Given the description of an element on the screen output the (x, y) to click on. 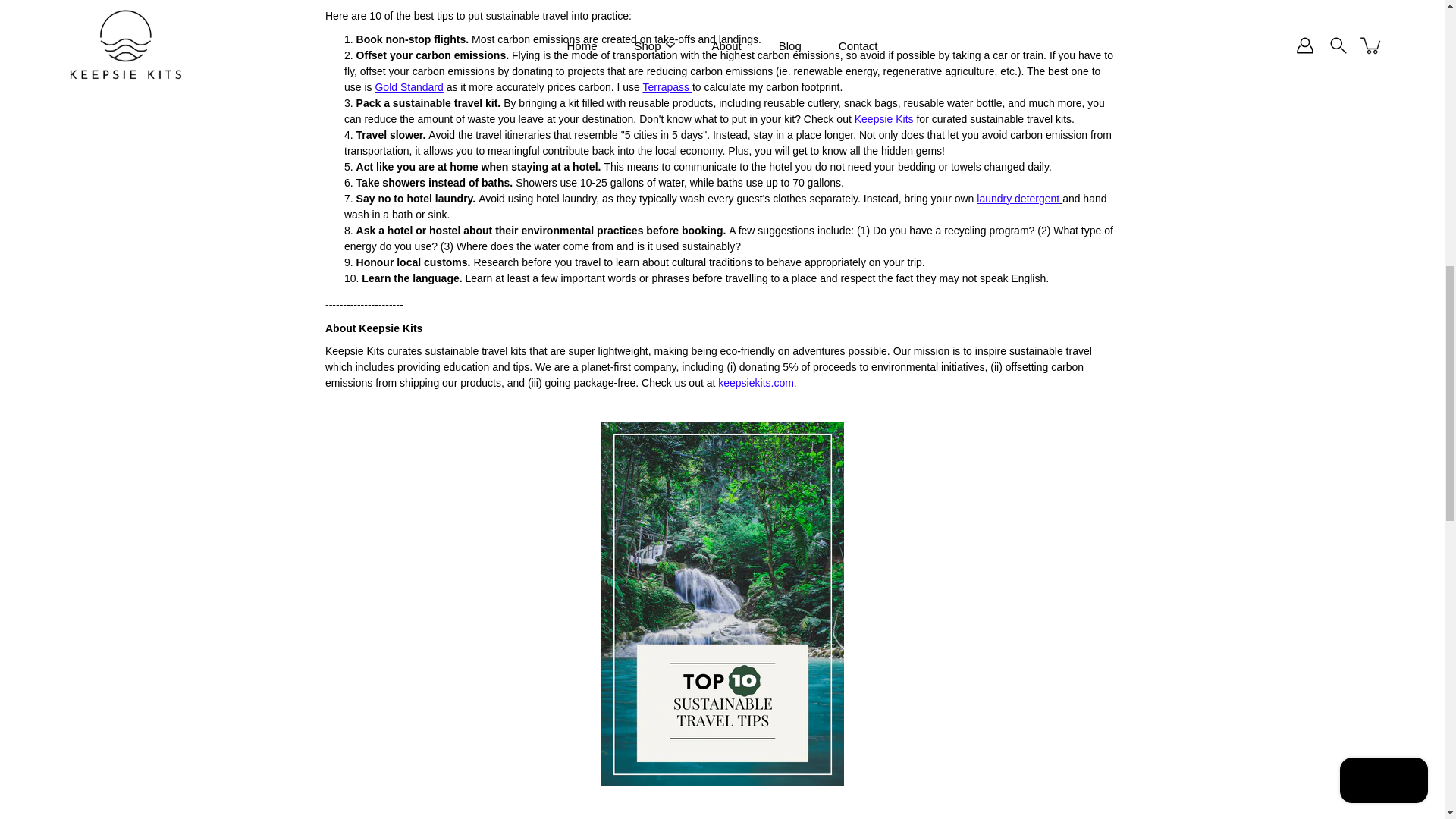
Sustainable Travel Kit - Keepsie Kits (884, 119)
Terrapass - Carbon Footprint Calculator (665, 87)
Gold Standard - Carbon Offsets (408, 87)
Sustainable Travel Kits - Keepsie Kits (755, 382)
Terrapass (665, 87)
keepsiekits.com (755, 382)
Keepsie Kits (884, 119)
laundry detergen (1016, 198)
Laundry Detergent Sheets for Sustainable Travel (1016, 198)
 Gold Standard (408, 87)
